Given the description of an element on the screen output the (x, y) to click on. 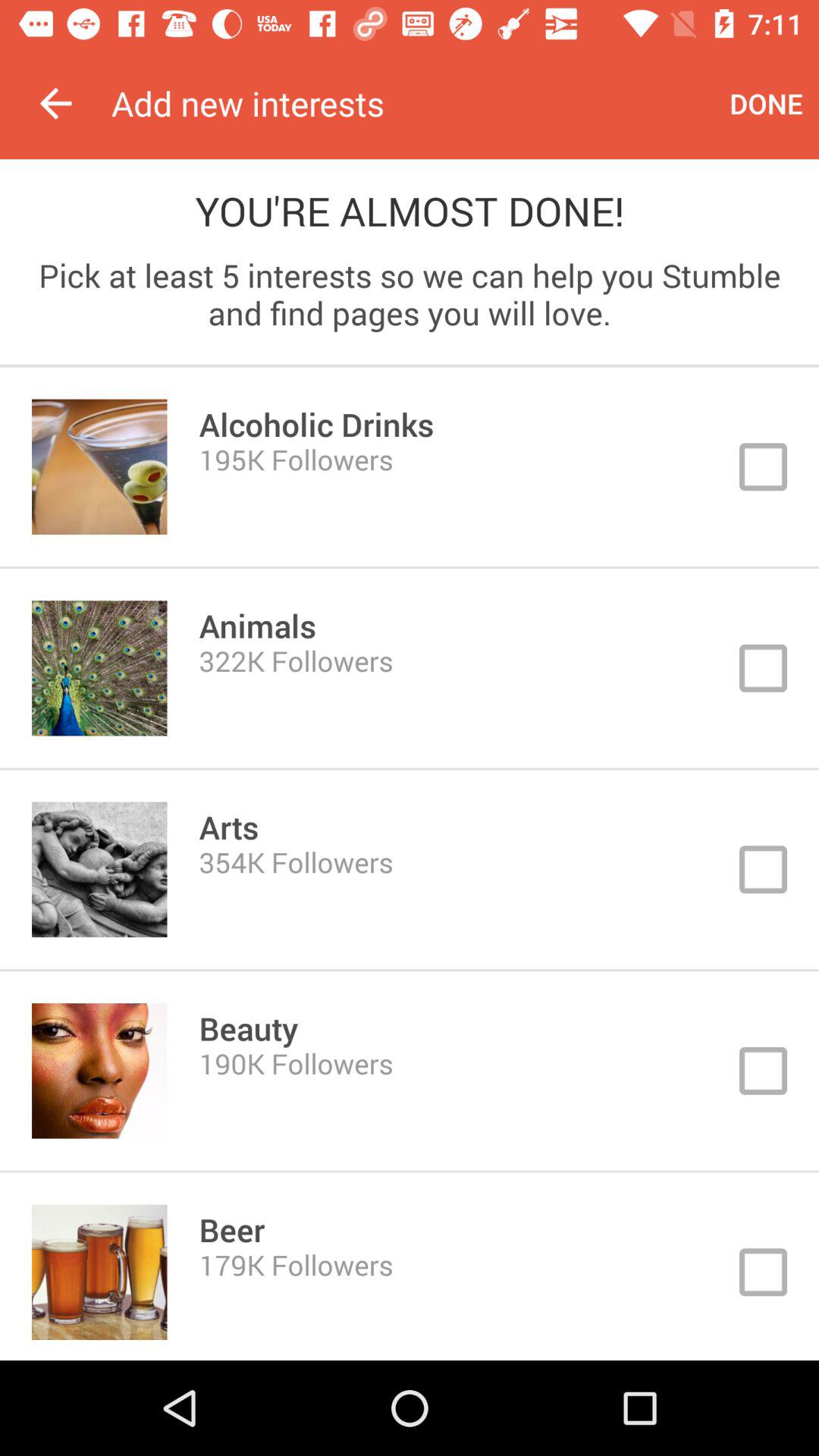
turn off item next to the done item (412, 103)
